Given the description of an element on the screen output the (x, y) to click on. 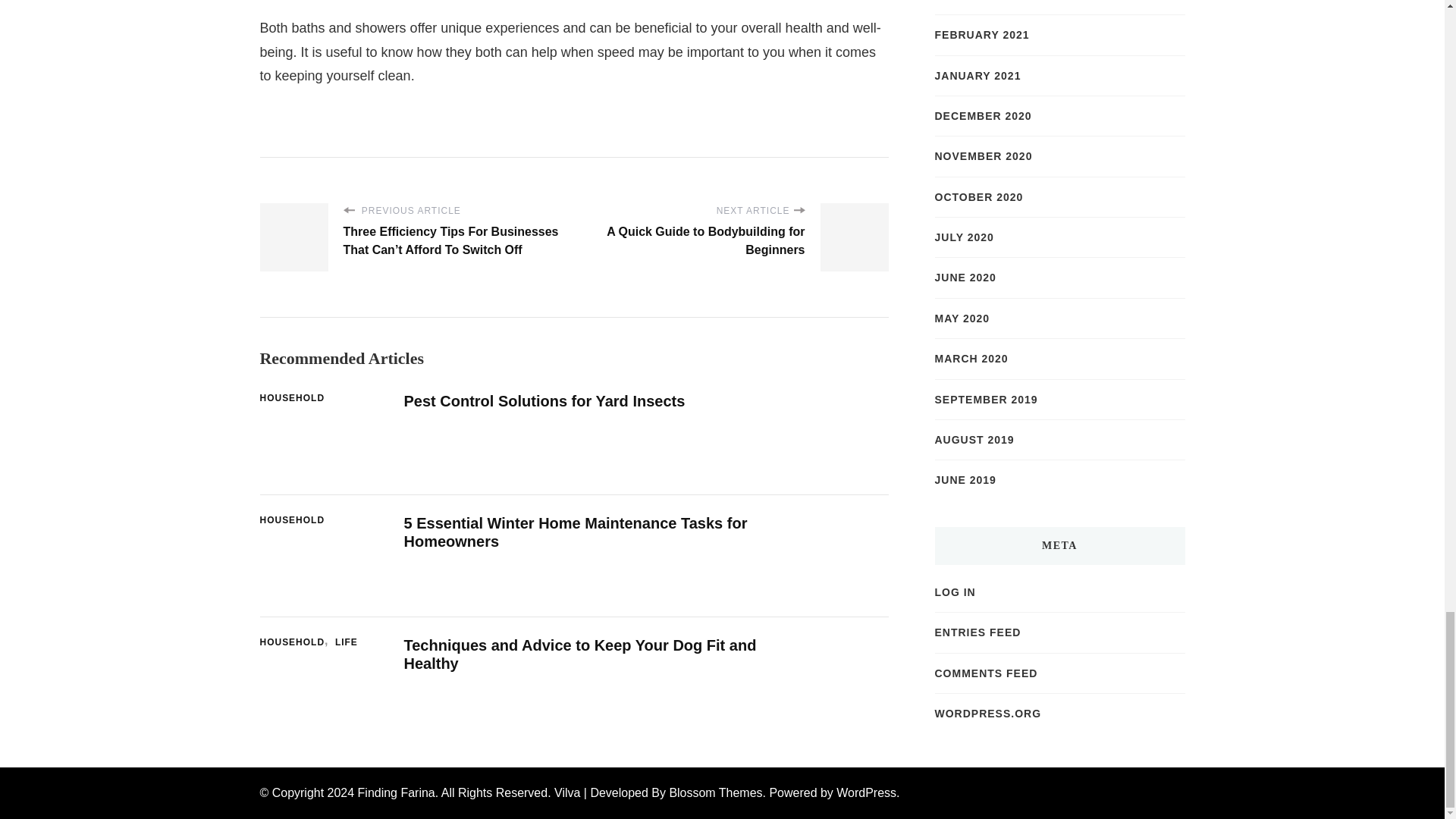
LIFE (346, 643)
Techniques and Advice to Keep Your Dog Fit and Healthy (579, 654)
HOUSEHOLD (291, 398)
5 Essential Winter Home Maintenance Tasks for Homeowners (574, 532)
HOUSEHOLD (295, 643)
HOUSEHOLD (291, 520)
Pest Control Solutions for Yard Insects (543, 401)
